Given the description of an element on the screen output the (x, y) to click on. 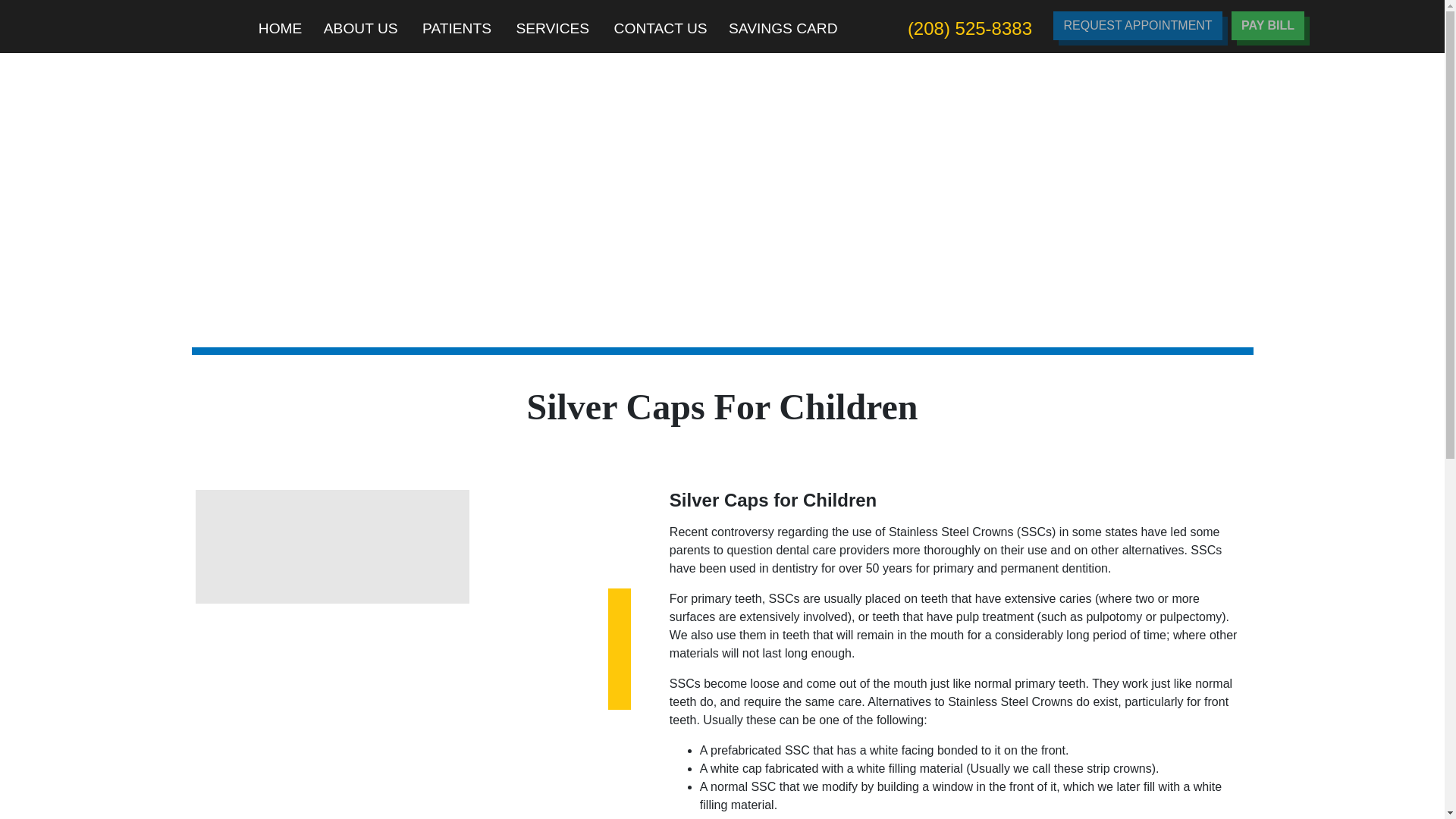
Little girl smiling (412, 648)
Idaho Falls Dental Group (153, 22)
HOME (280, 29)
